Given the description of an element on the screen output the (x, y) to click on. 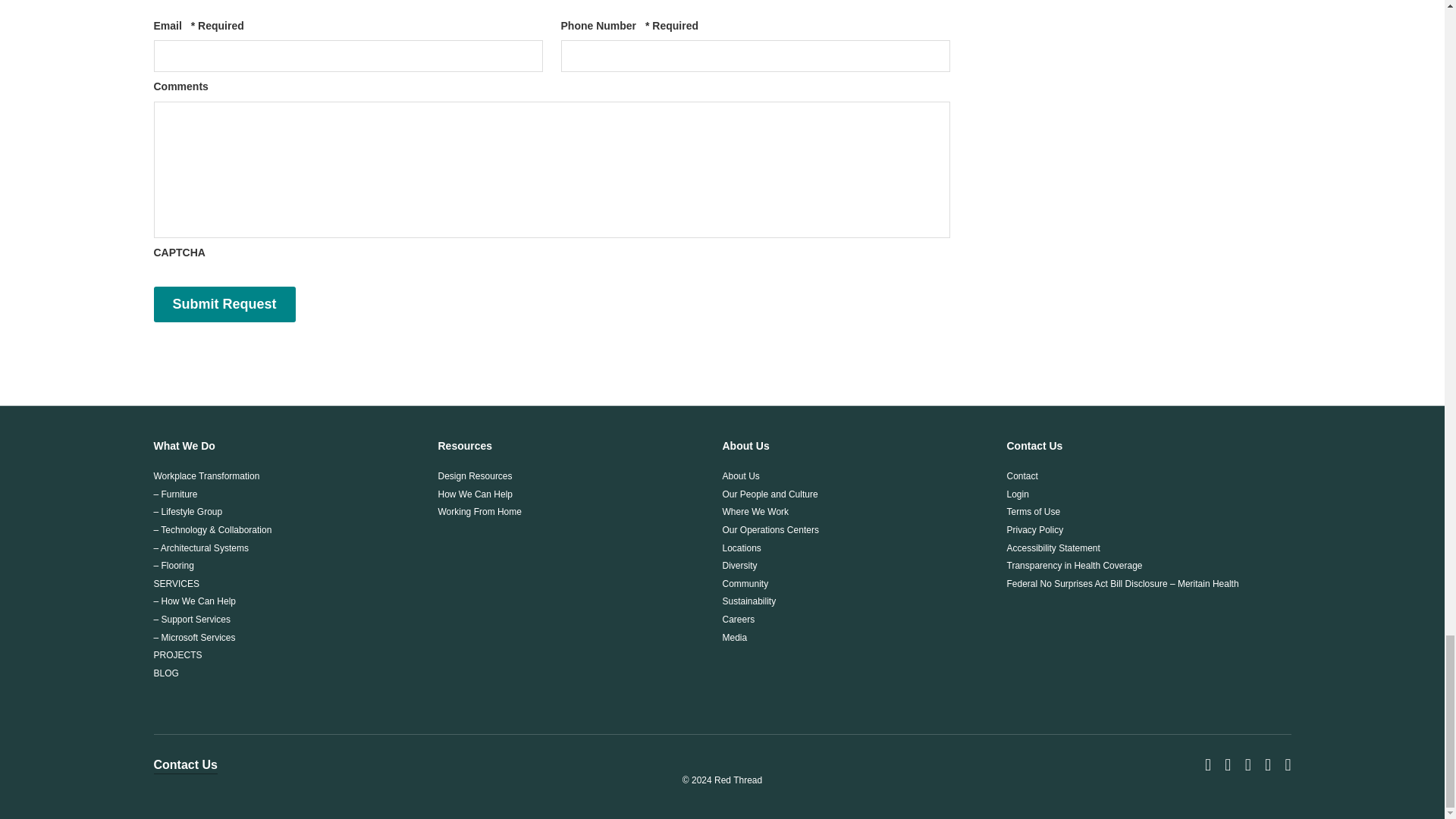
BLOG (164, 673)
PROJECTS (177, 655)
About Us (740, 475)
Working From Home (479, 511)
Where We Work (755, 511)
Design Resources (475, 475)
What We Do (183, 446)
How We Can Help (475, 493)
Workplace Transformation (205, 475)
About Us (745, 446)
Our People and Culture (769, 493)
Resources (465, 446)
Submit Request (223, 304)
SERVICES (175, 583)
Submit Request (223, 304)
